Given the description of an element on the screen output the (x, y) to click on. 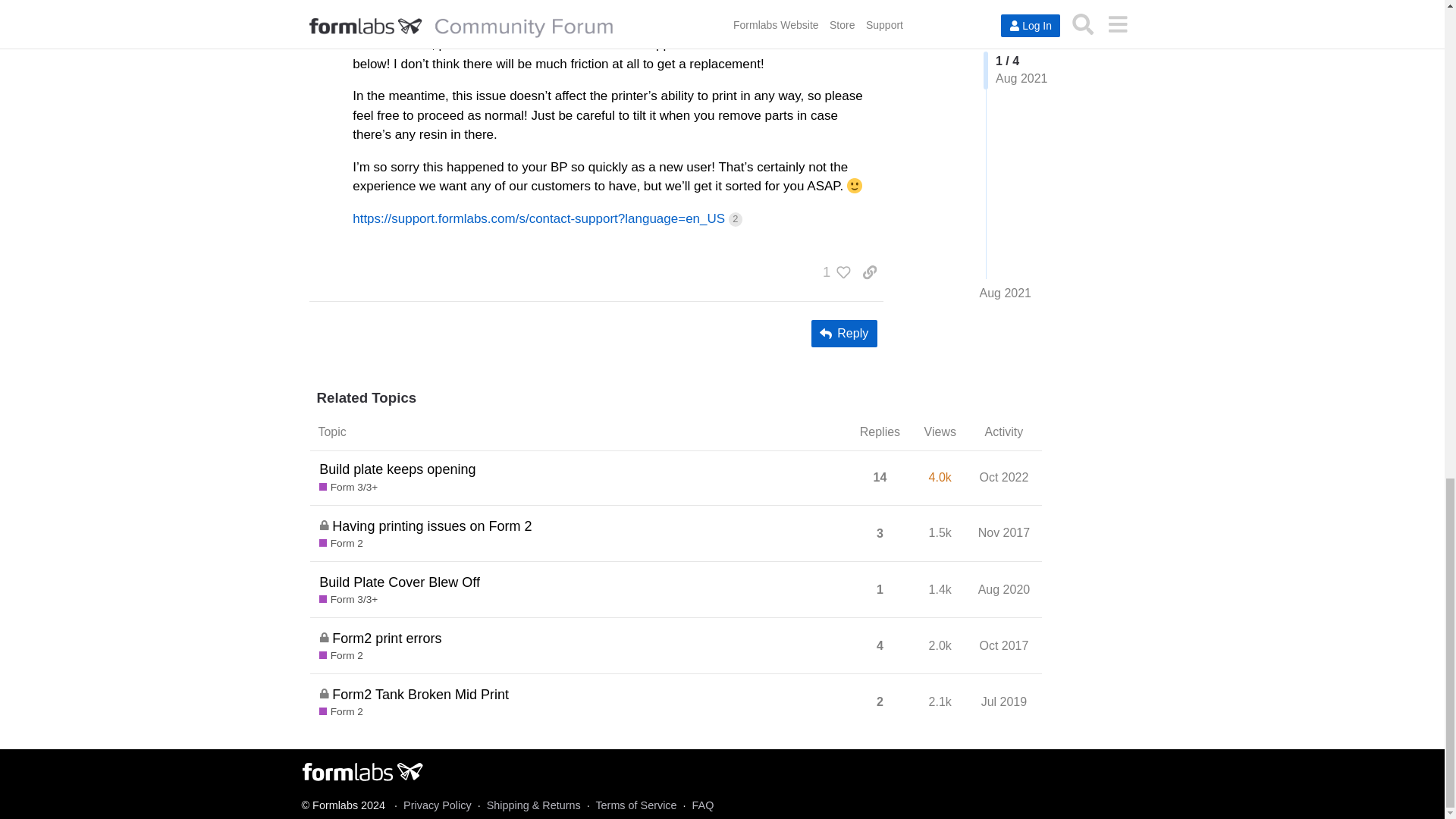
DKirch (371, 11)
1 (832, 272)
Aug 2021 (850, 10)
Reply (843, 333)
